Given the description of an element on the screen output the (x, y) to click on. 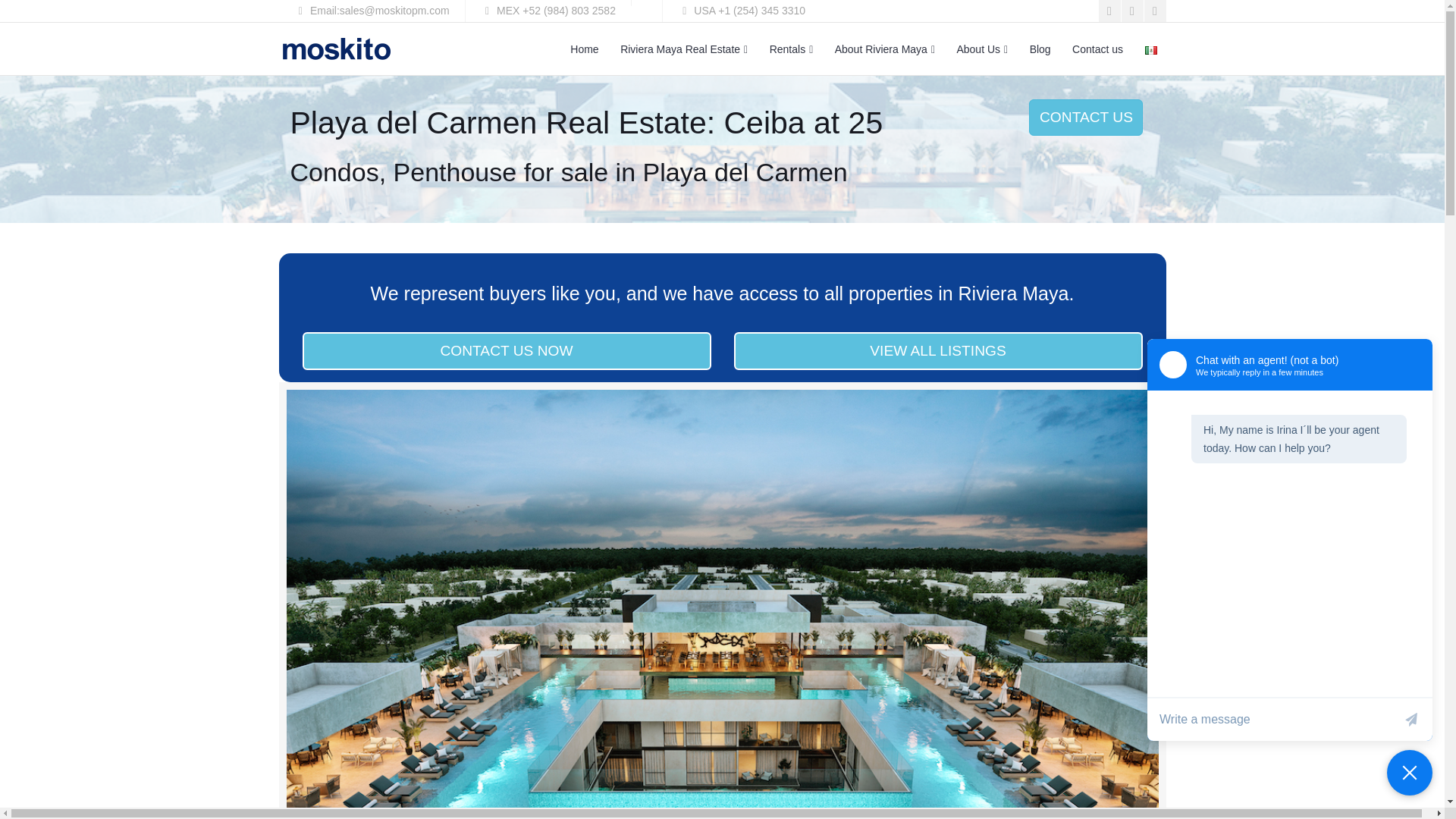
About Us (981, 49)
Facebook (1108, 11)
Riviera Maya Real Estate (684, 49)
CONTACT US NOW (505, 351)
CONTACT US (1085, 117)
Penthouse (454, 172)
Playa del Carmen (745, 172)
Condos (333, 172)
YouTube (1131, 11)
About Riviera Maya (884, 49)
Instagram (1154, 11)
Rentals (791, 49)
VIEW ALL LISTINGS (937, 351)
Contact us (1097, 49)
